Given the description of an element on the screen output the (x, y) to click on. 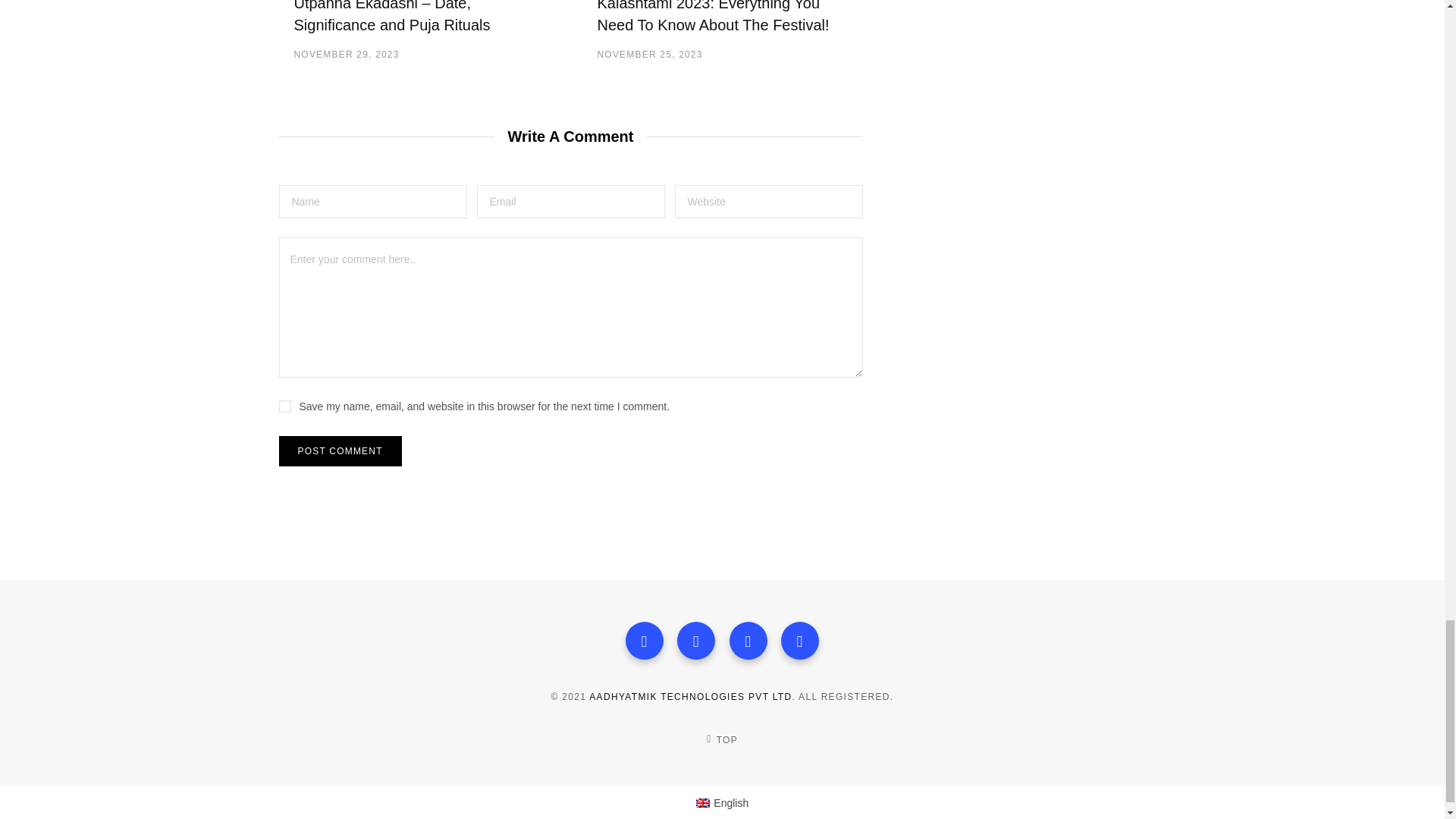
yes (285, 406)
Post Comment (340, 450)
